Given the description of an element on the screen output the (x, y) to click on. 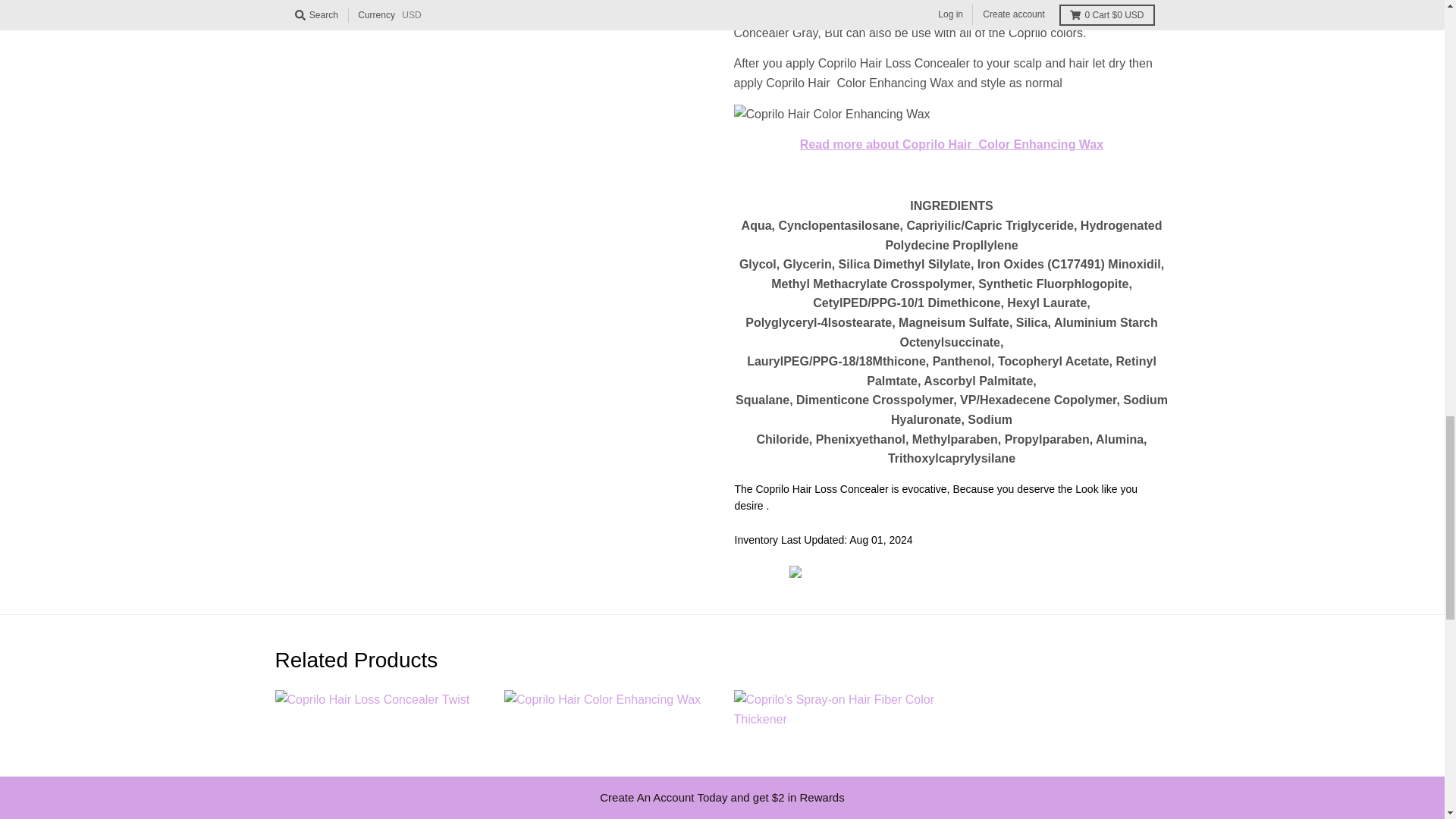
Coprilo Hair  Color Enhancing Wax (951, 144)
